Given the description of an element on the screen output the (x, y) to click on. 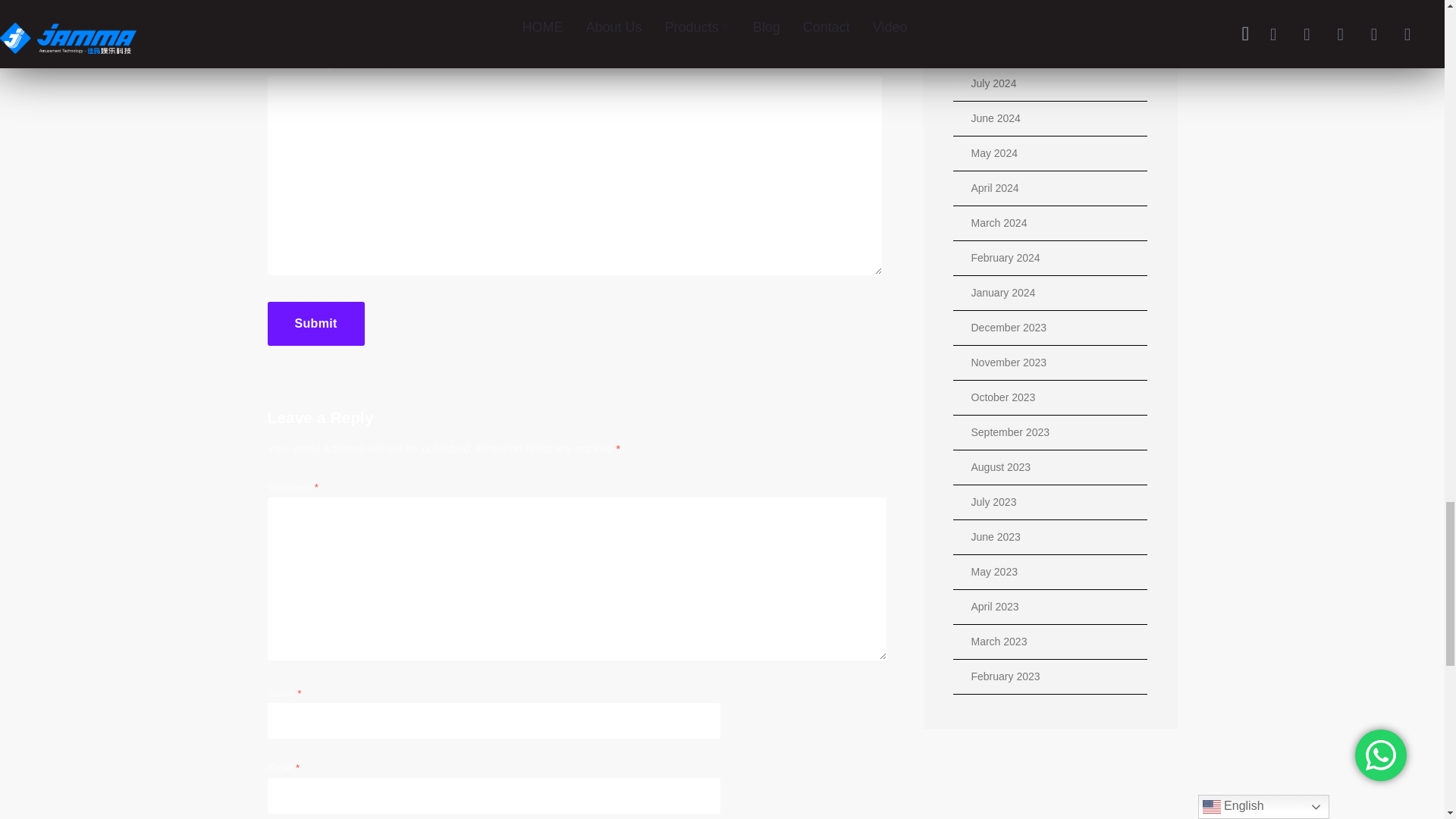
Submit (315, 323)
